Given the description of an element on the screen output the (x, y) to click on. 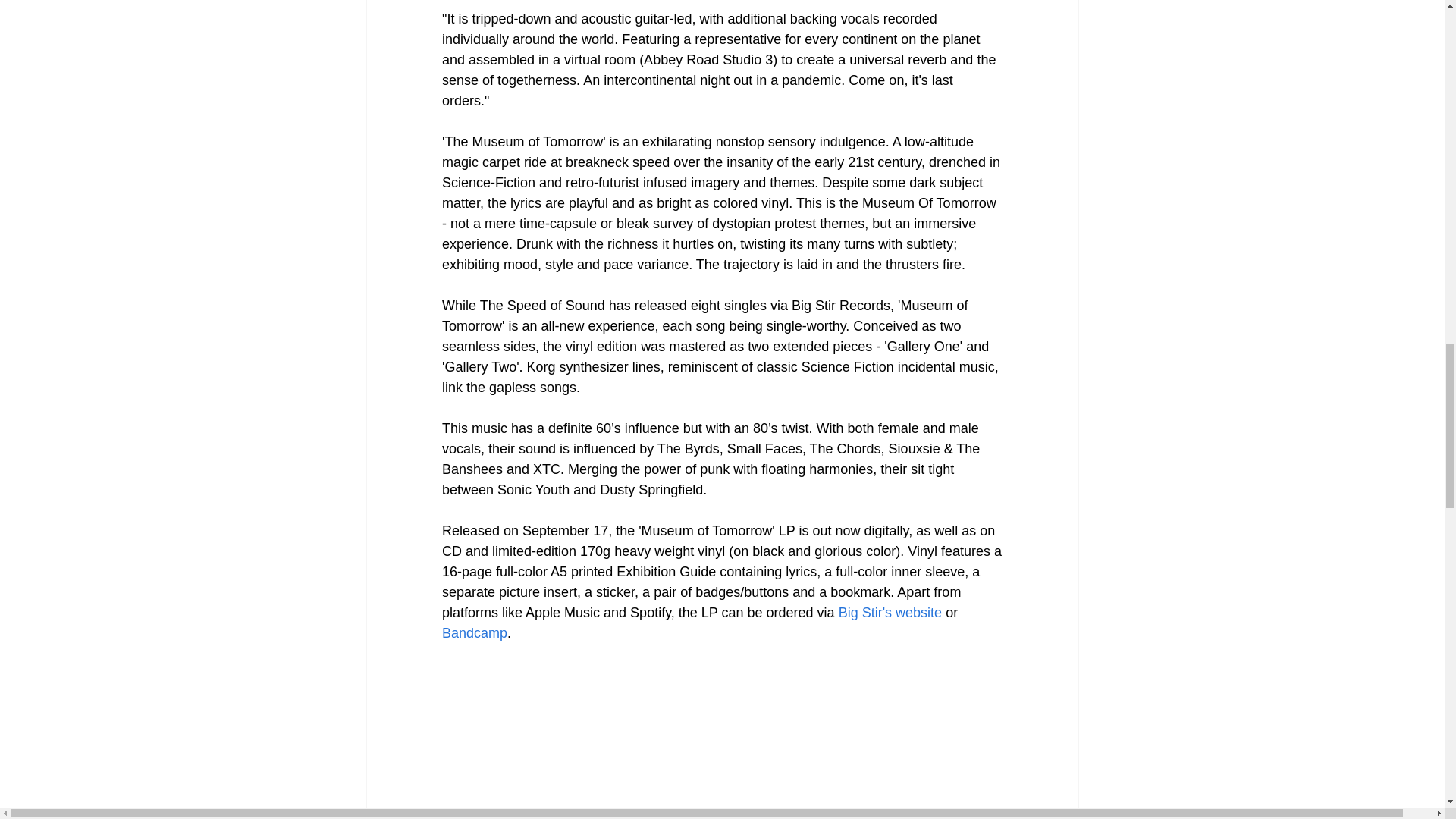
Big Stir's website (890, 612)
Bandcamp (473, 632)
